Given the description of an element on the screen output the (x, y) to click on. 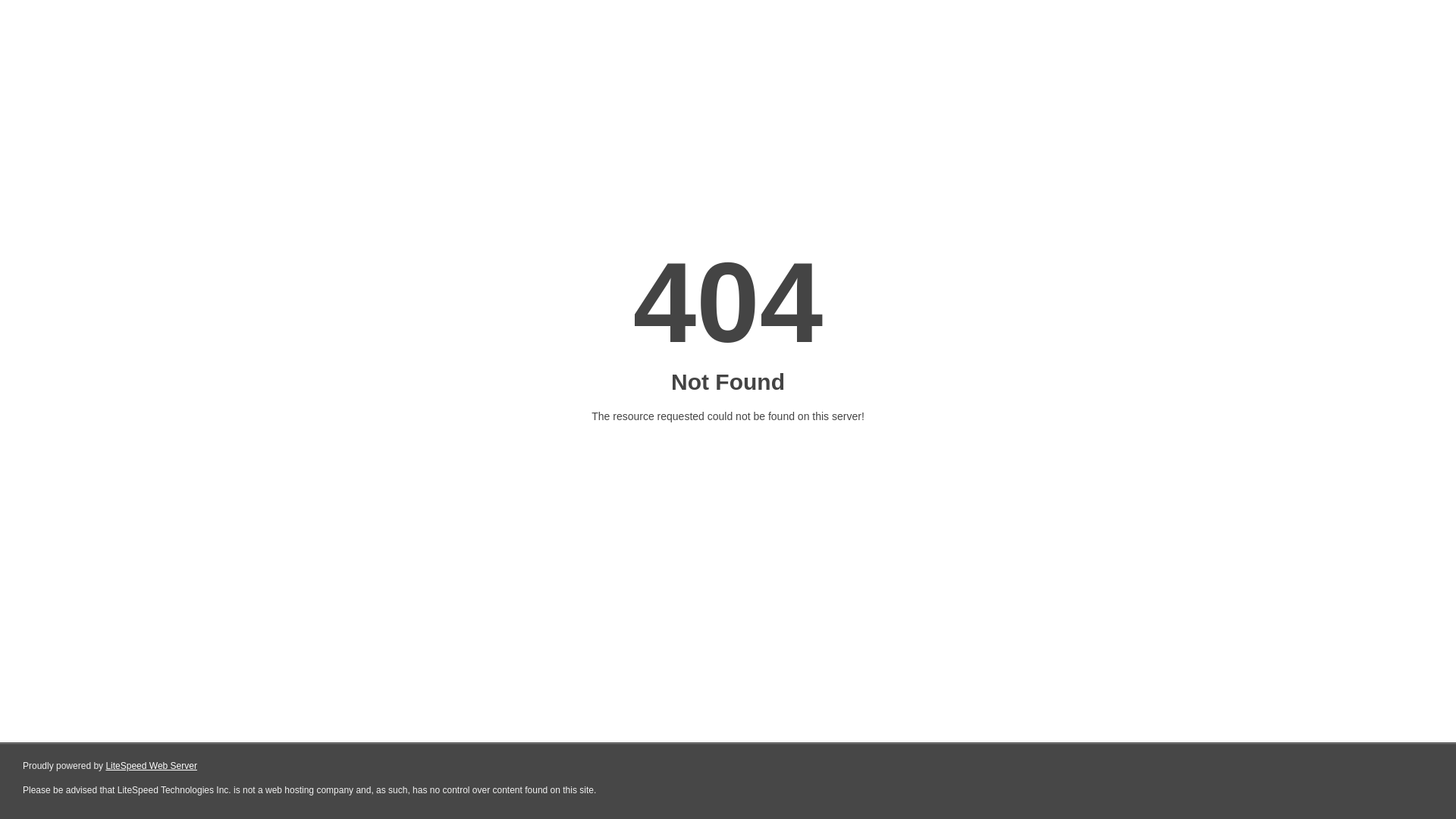
LiteSpeed Web Server Element type: text (151, 765)
